Given the description of an element on the screen output the (x, y) to click on. 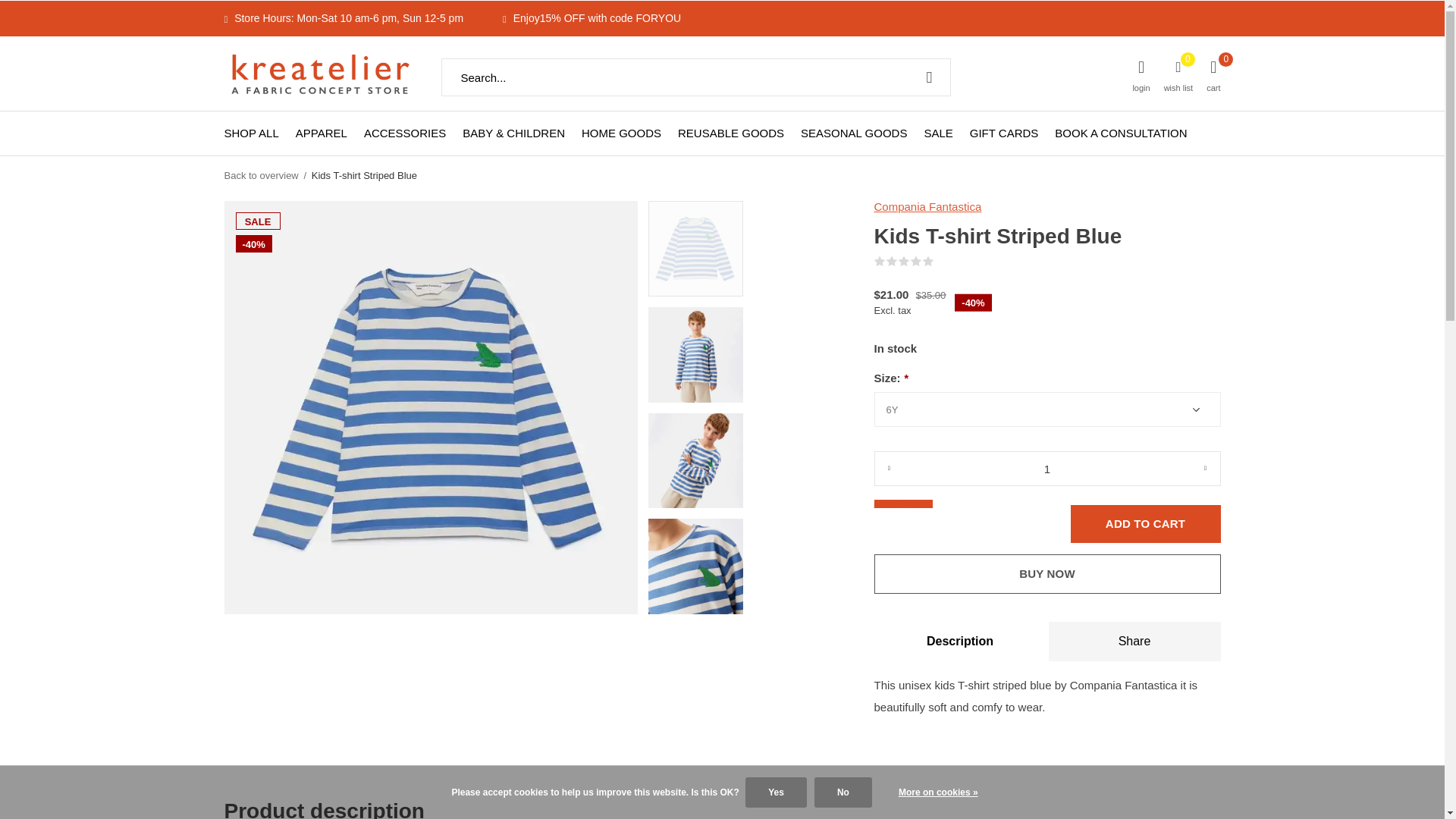
Yes (775, 792)
No (842, 792)
SHOP ALL (251, 132)
More on cookies (937, 792)
1 (1046, 468)
